Given the description of an element on the screen output the (x, y) to click on. 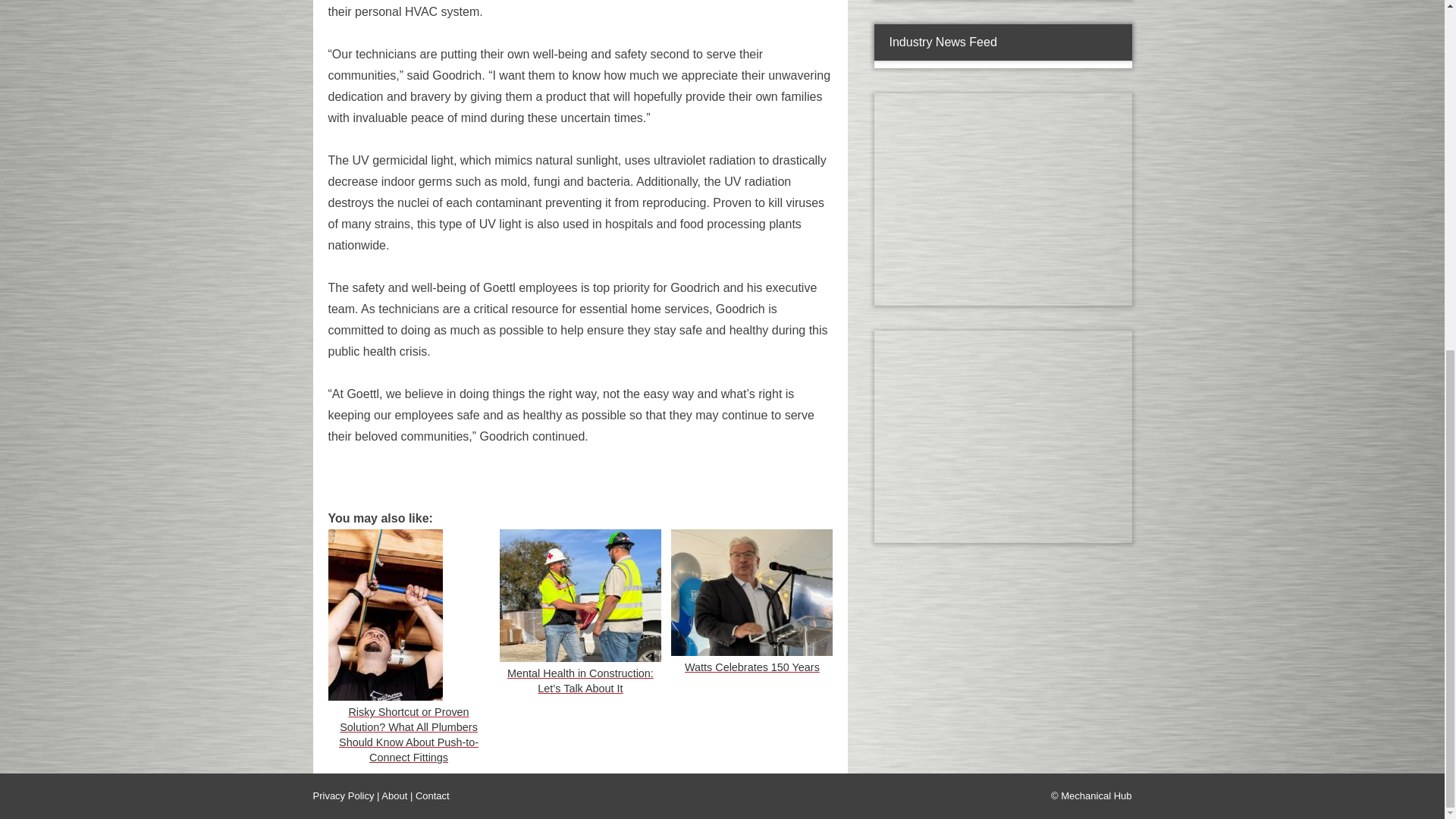
Privacy Policy (343, 795)
3rd party ad content (1002, 199)
3rd party ad content (1002, 436)
About (394, 795)
Watts Celebrates 150 Years (751, 603)
